Given the description of an element on the screen output the (x, y) to click on. 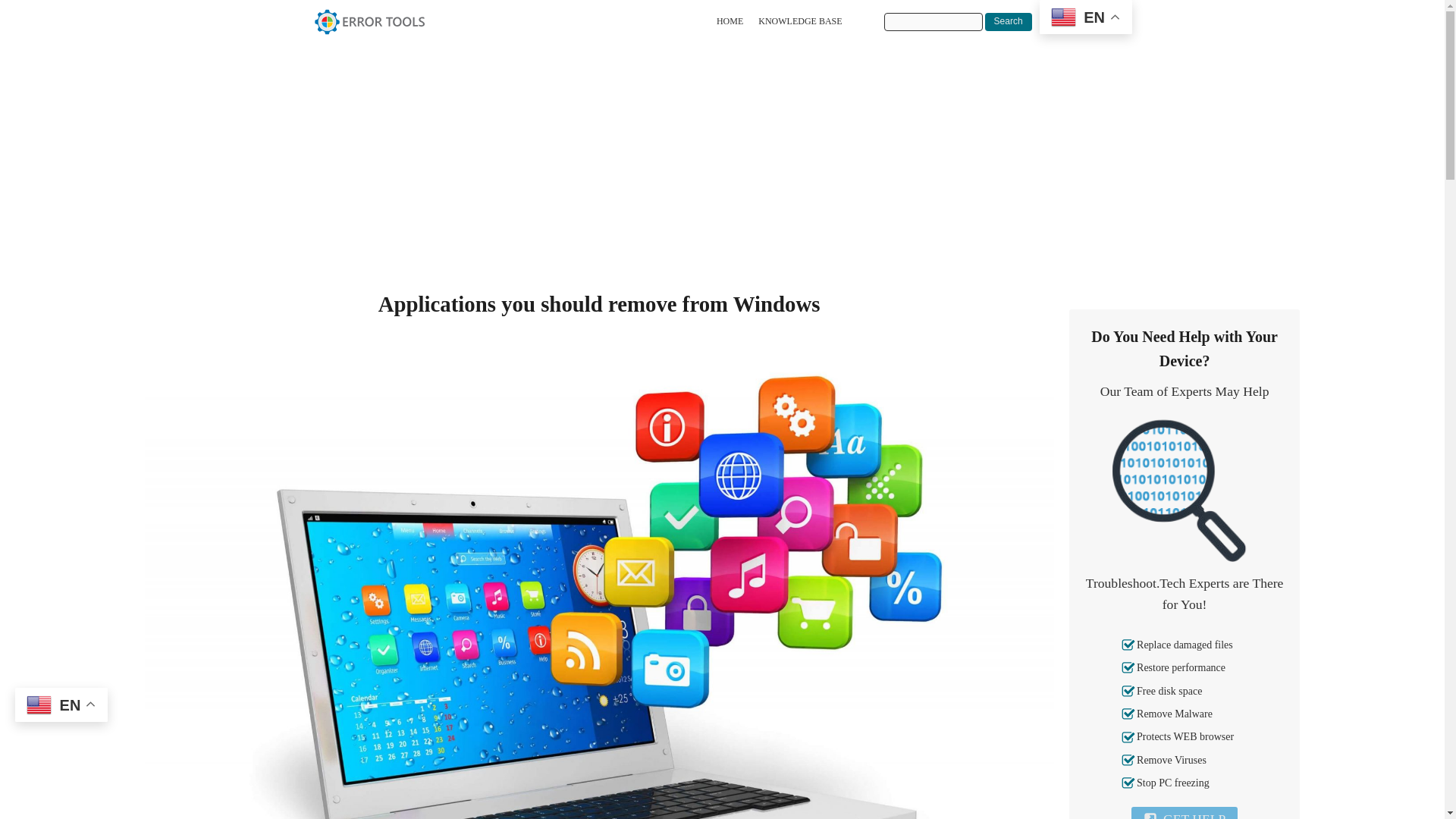
Search (1008, 22)
GET HELP (1184, 812)
HOME (730, 21)
KNOWLEDGE BASE (799, 21)
Search (1008, 22)
